Given the description of an element on the screen output the (x, y) to click on. 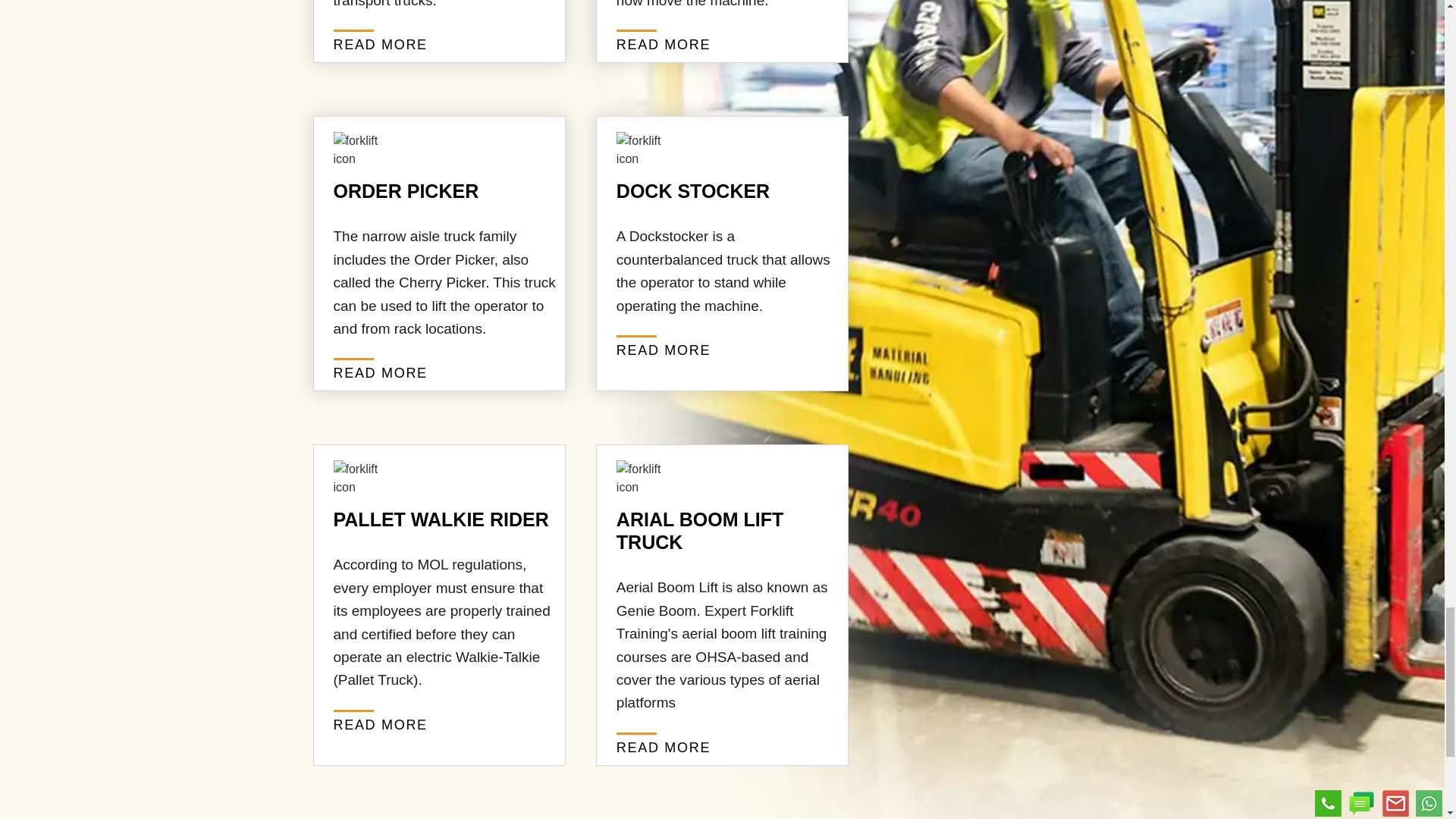
READ MORE (662, 350)
READ MORE (380, 725)
READ MORE (380, 44)
READ MORE (380, 373)
READ MORE (662, 44)
READ MORE (662, 747)
